Given the description of an element on the screen output the (x, y) to click on. 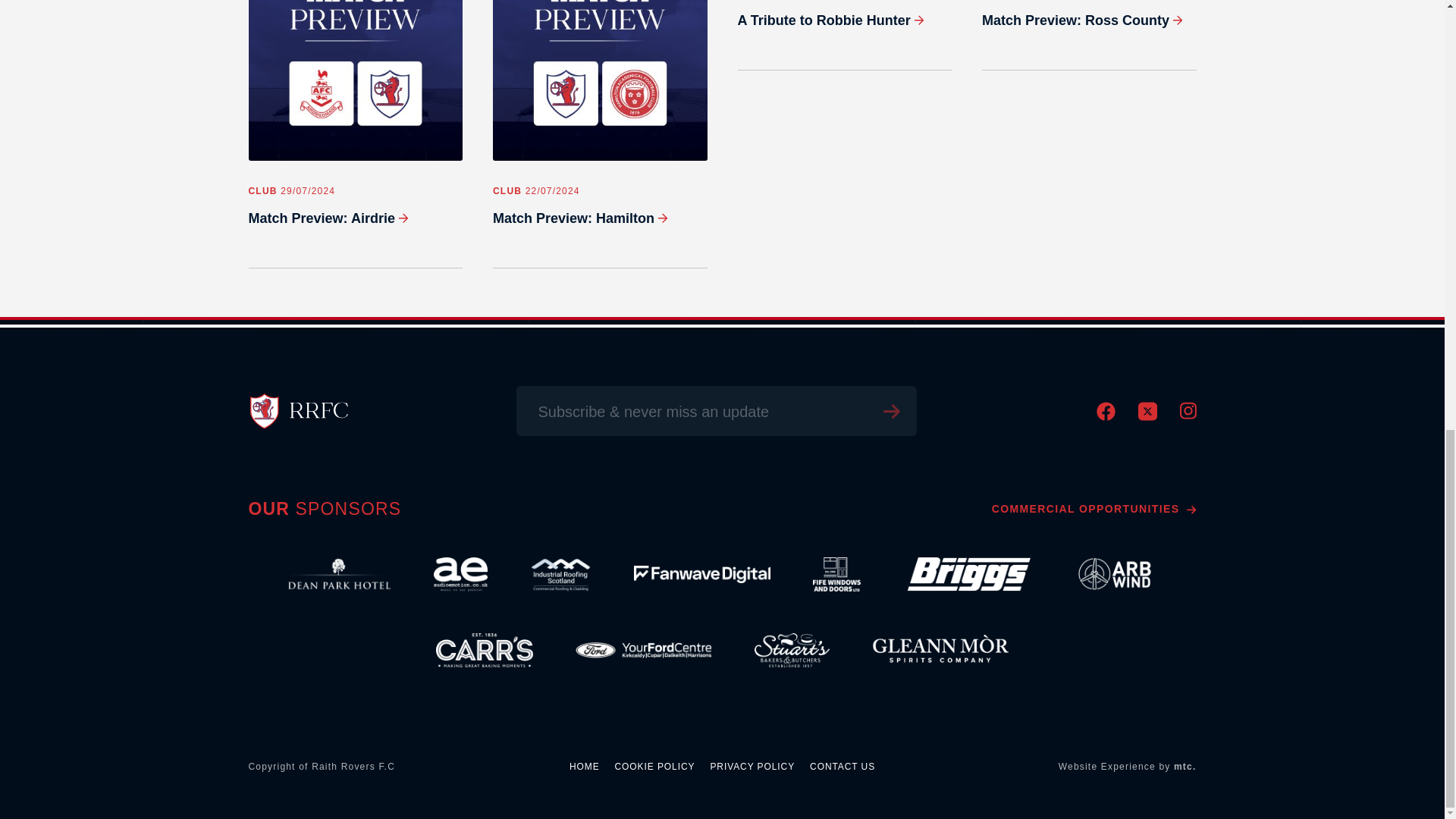
Find us on Facebook (1105, 417)
Brigg's Marine (966, 574)
Find us on Instagram (1187, 415)
Dean Park Hotel (339, 574)
Your Ford Centre (643, 650)
Fanwave Digital (701, 574)
Carr's (484, 650)
Industrial Roofing Scotland (560, 574)
Commercial Opportunities (1093, 508)
Find us on X (1146, 417)
